Given the description of an element on the screen output the (x, y) to click on. 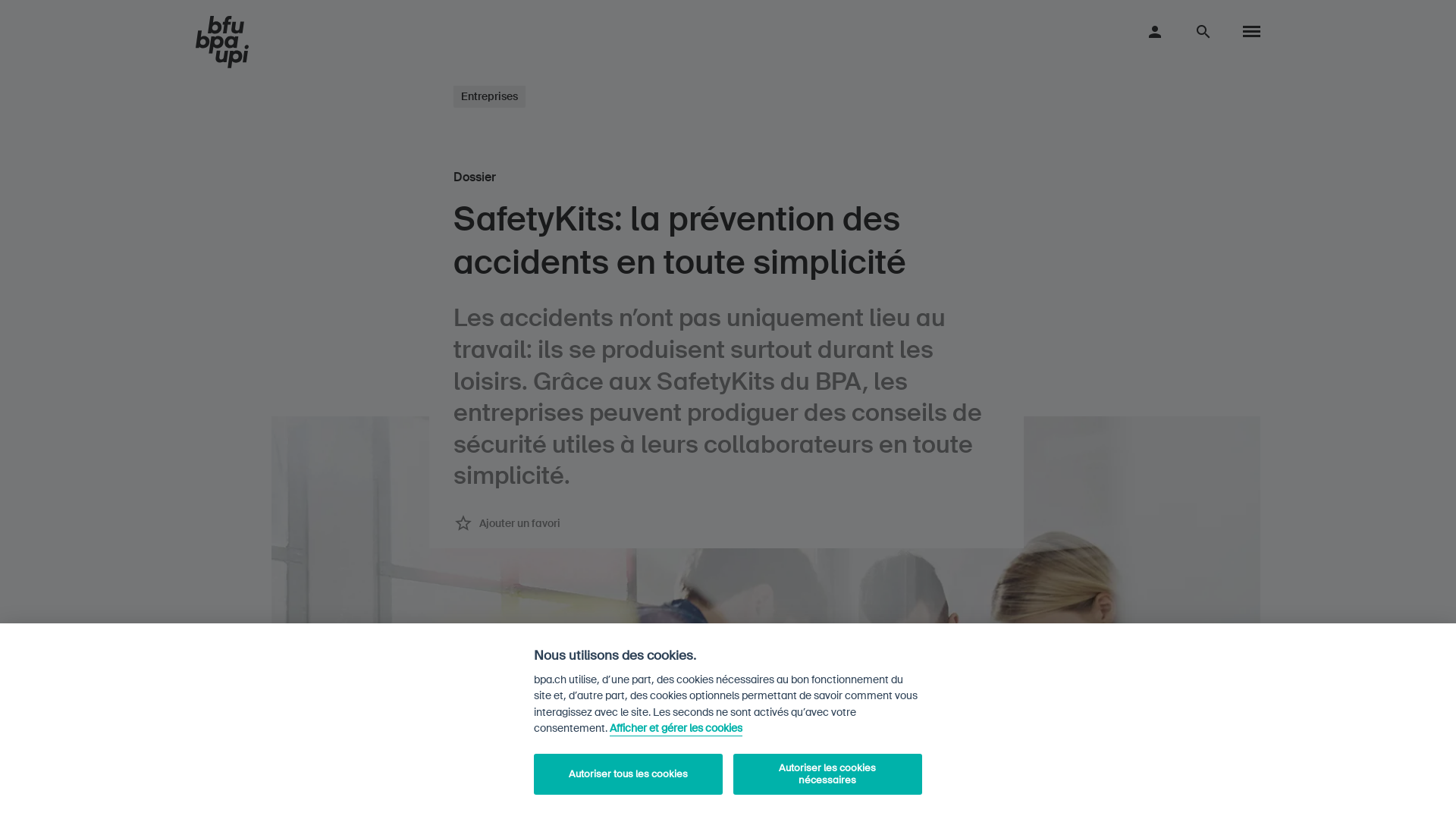
search Element type: text (1203, 30)
star_border
Ajouter un favori Element type: text (506, 523)
Entreprises Element type: text (489, 95)
person Element type: text (1154, 30)
Autoriser tous les cookies Element type: text (627, 773)
